Given the description of an element on the screen output the (x, y) to click on. 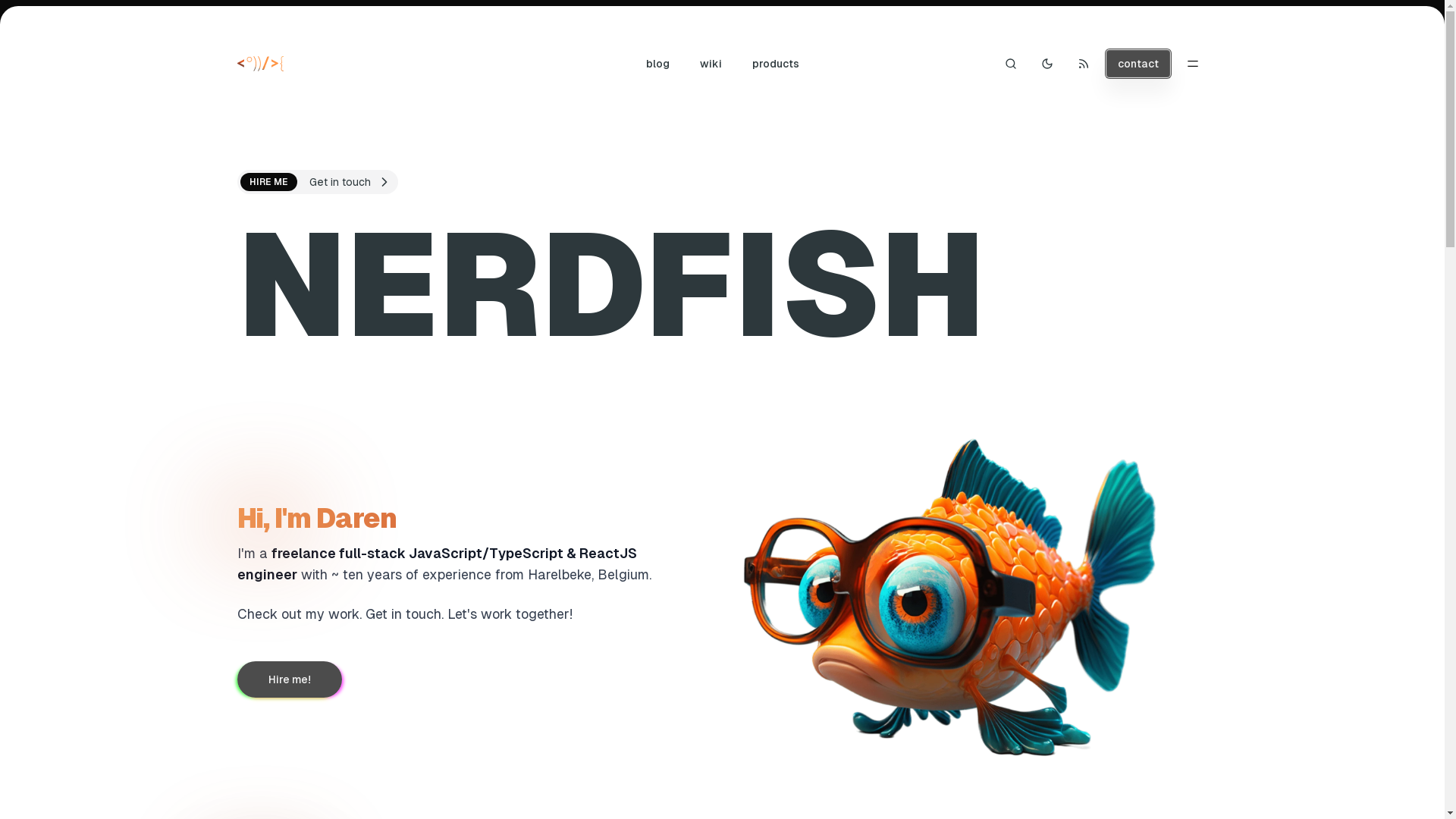
products Element type: text (775, 63)
blog Element type: text (657, 63)
wiki Element type: text (710, 63)
contact Element type: text (1137, 63)
Dark Mode Element type: text (1046, 63)
Hire me! Element type: text (288, 679)
RSS feed Element type: text (1082, 63)
HIRE ME
Get in touch Element type: text (316, 181)
Search Element type: text (1009, 63)
